Given the description of an element on the screen output the (x, y) to click on. 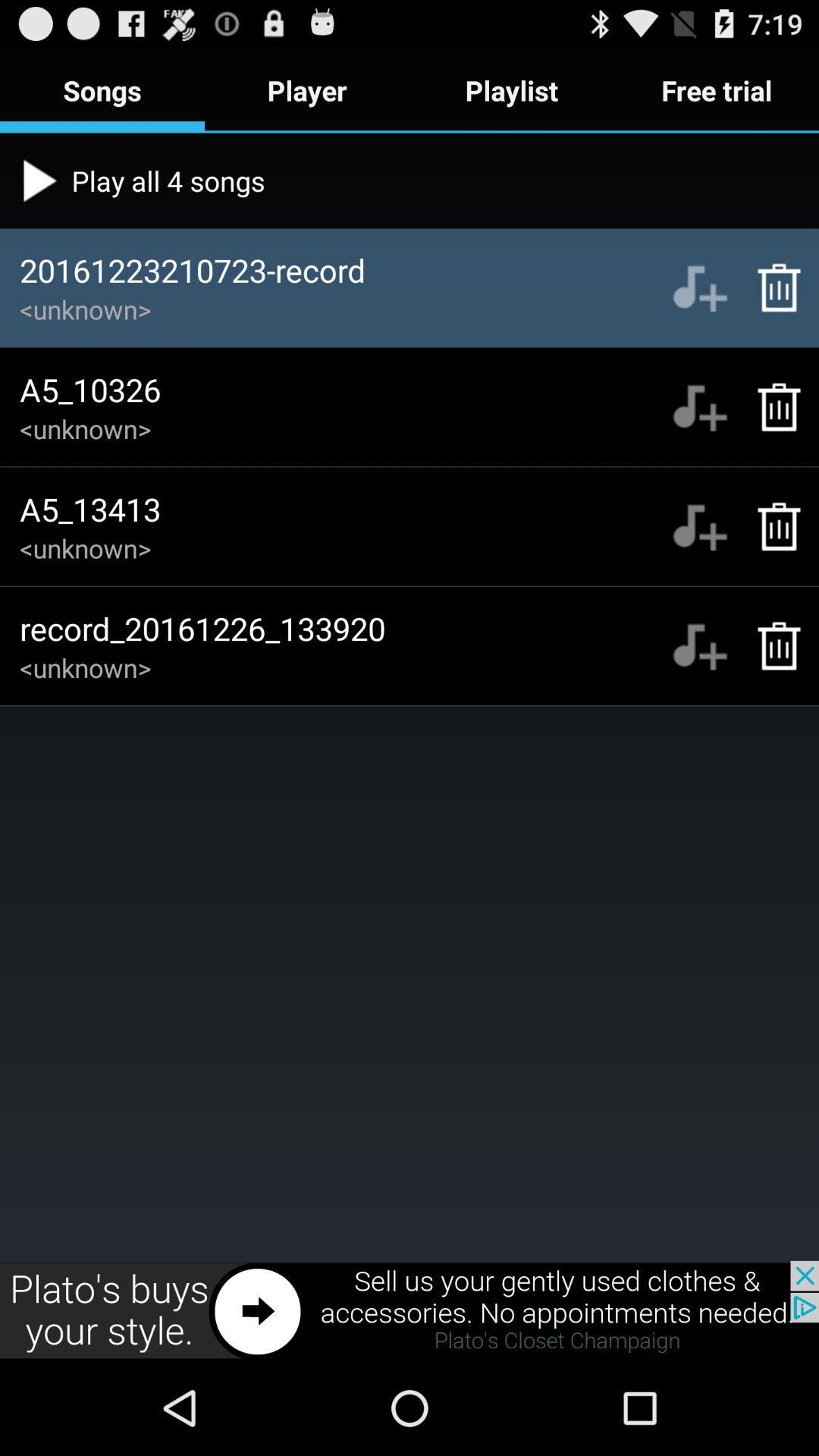
delete file (771, 287)
